Given the description of an element on the screen output the (x, y) to click on. 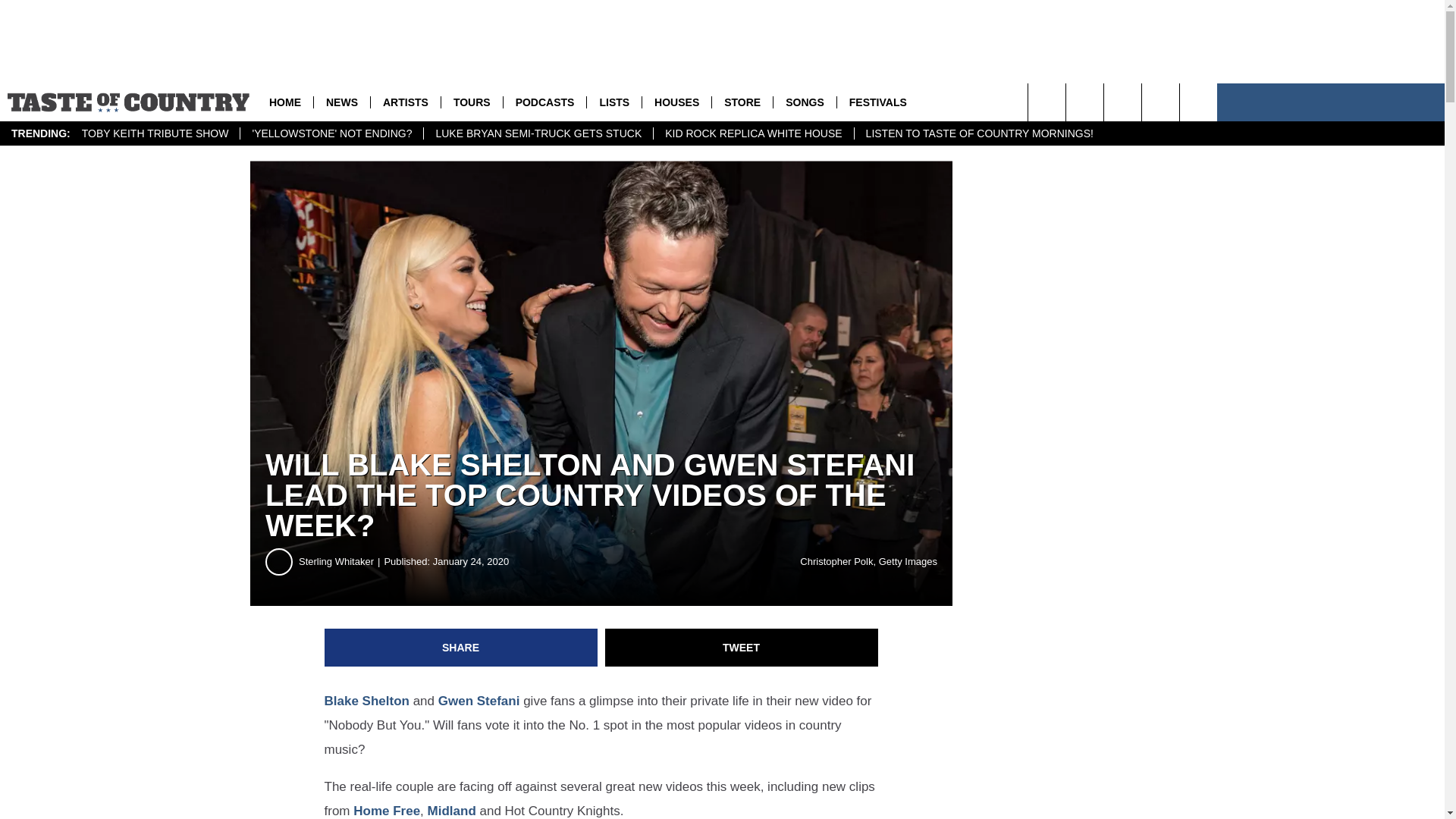
Blake Shelton (366, 700)
FESTIVALS (876, 102)
HOME (285, 102)
Visit us on Facebook (1160, 102)
HOUSES (676, 102)
LISTS (614, 102)
TOURS (471, 102)
SHARE (460, 647)
LISTEN TO TASTE OF COUNTRY MORNINGS! (979, 133)
ARTISTS (405, 102)
